Given the description of an element on the screen output the (x, y) to click on. 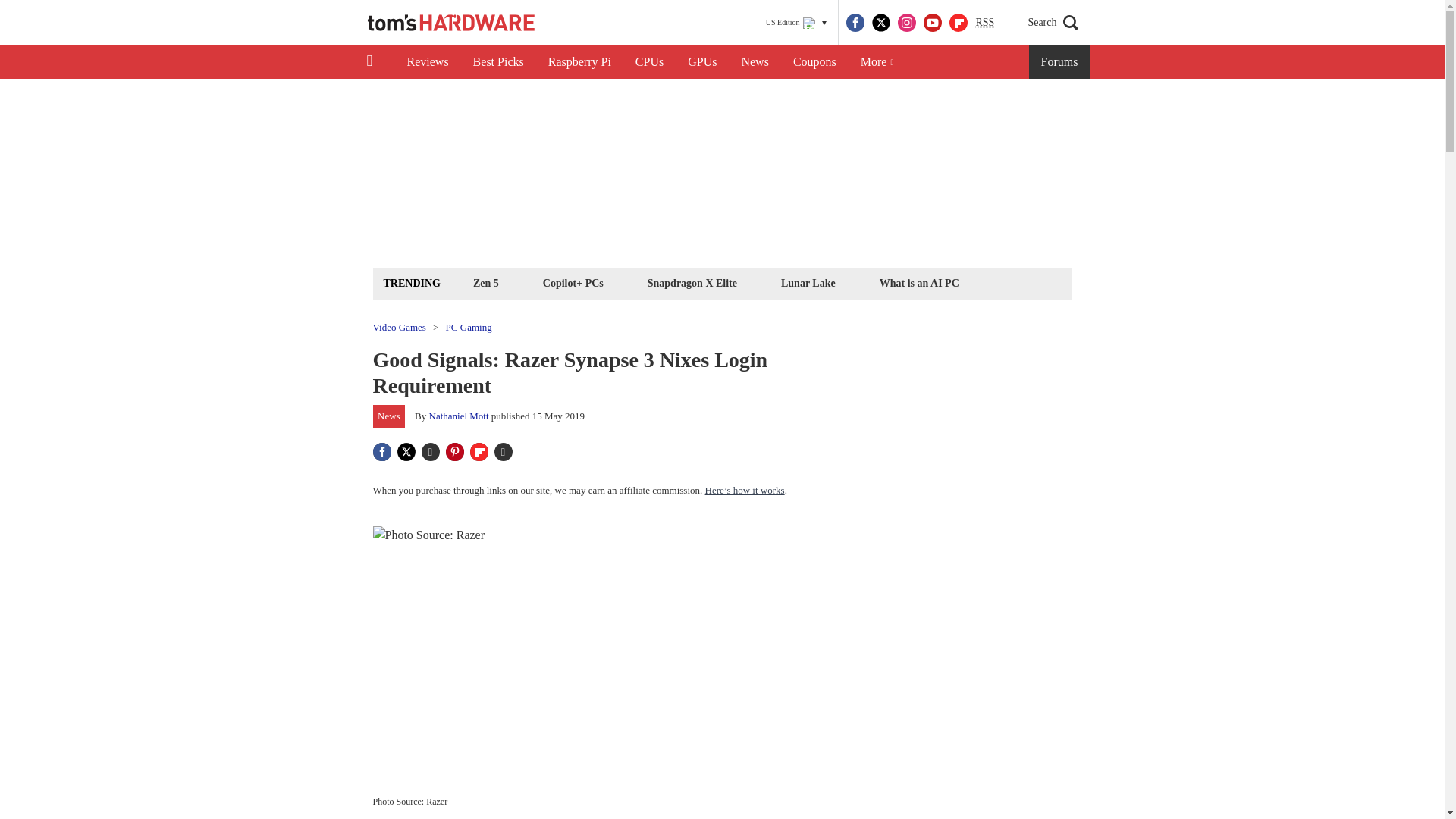
RSS (984, 22)
GPUs (702, 61)
Reviews (427, 61)
CPUs (649, 61)
Raspberry Pi (579, 61)
Coupons (814, 61)
Best Picks (498, 61)
Forums (1059, 61)
News (754, 61)
US Edition (796, 22)
Zen 5 (485, 282)
Really Simple Syndication (984, 21)
